Given the description of an element on the screen output the (x, y) to click on. 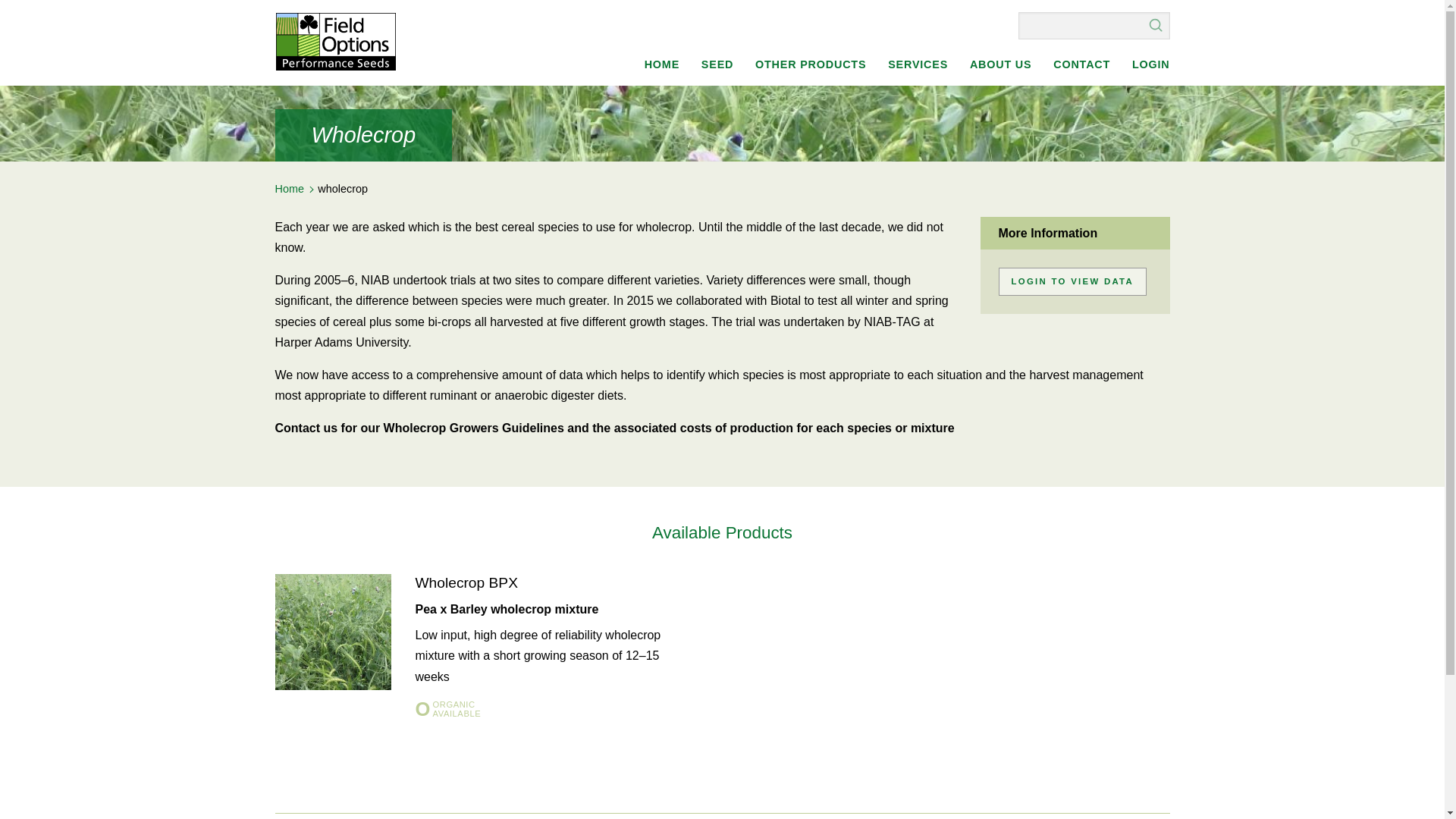
Field Options (335, 41)
Enter the terms you wish to search for. (1093, 25)
Search (1155, 24)
